Given the description of an element on the screen output the (x, y) to click on. 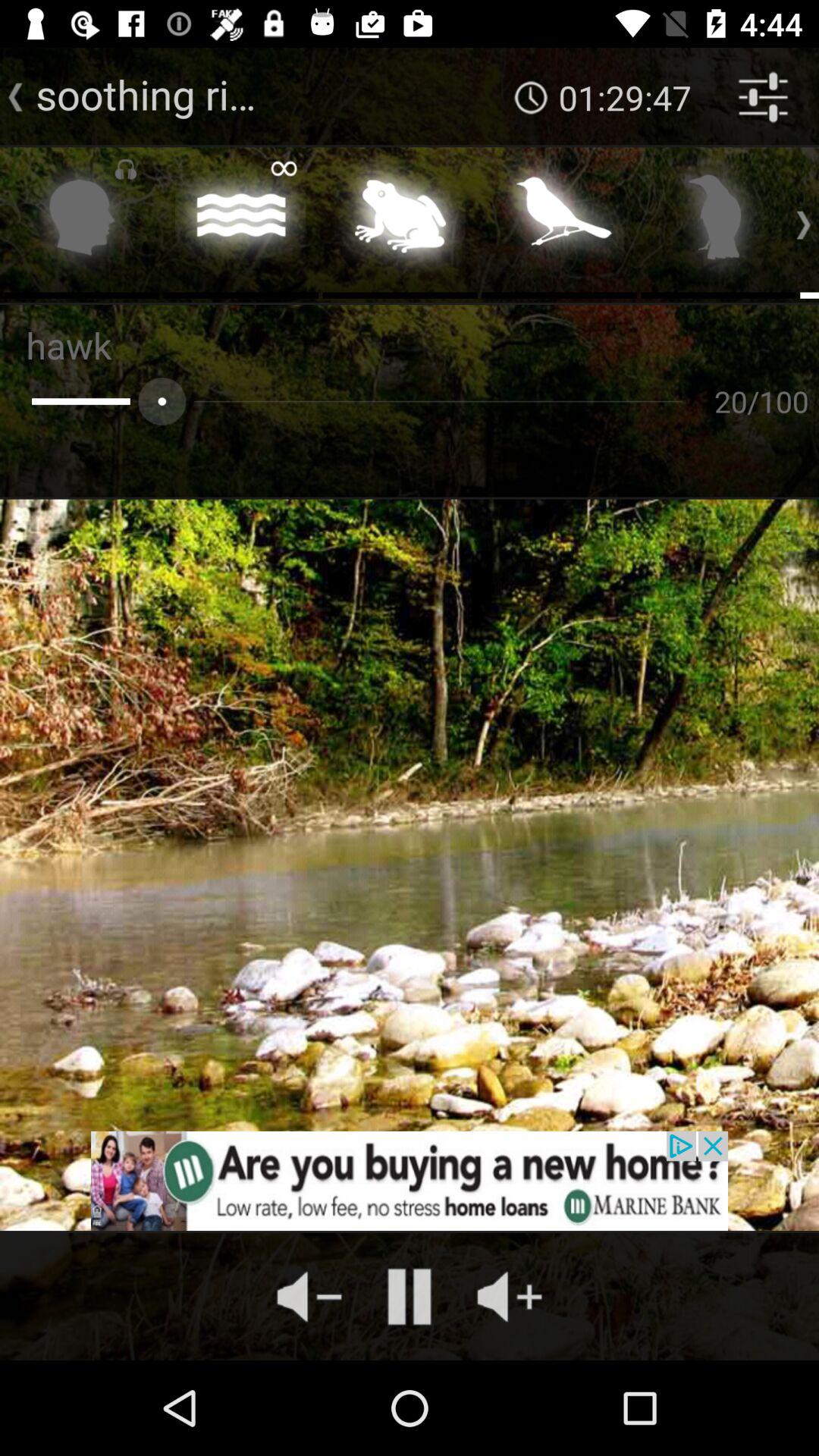
water sounds loop (240, 221)
